Given the description of an element on the screen output the (x, y) to click on. 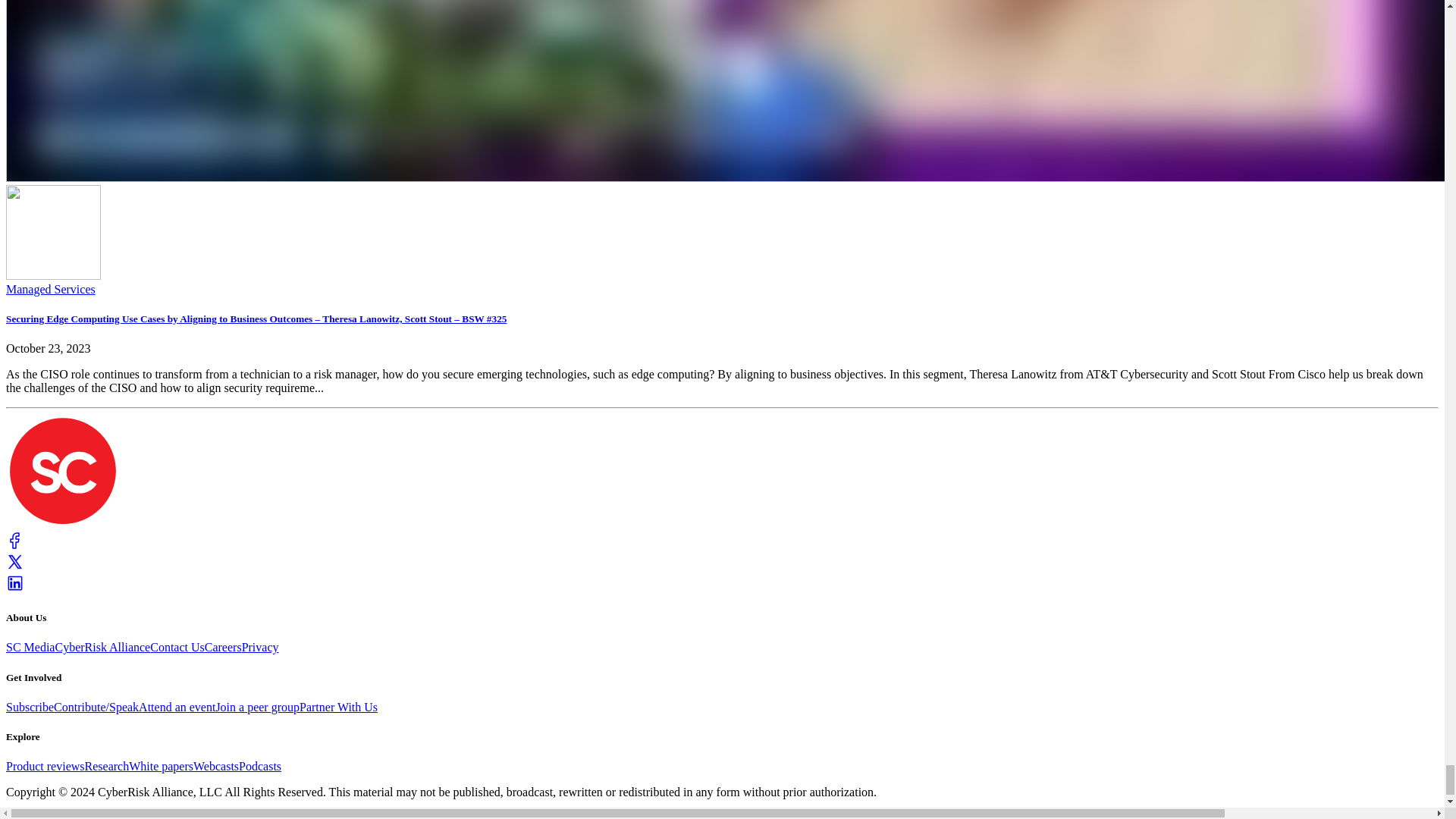
SCMagazine on LinkedIn (14, 587)
SCMagazine on Facebook (14, 545)
SCMagazine on Twitter (14, 566)
SC Media (62, 523)
